Given the description of an element on the screen output the (x, y) to click on. 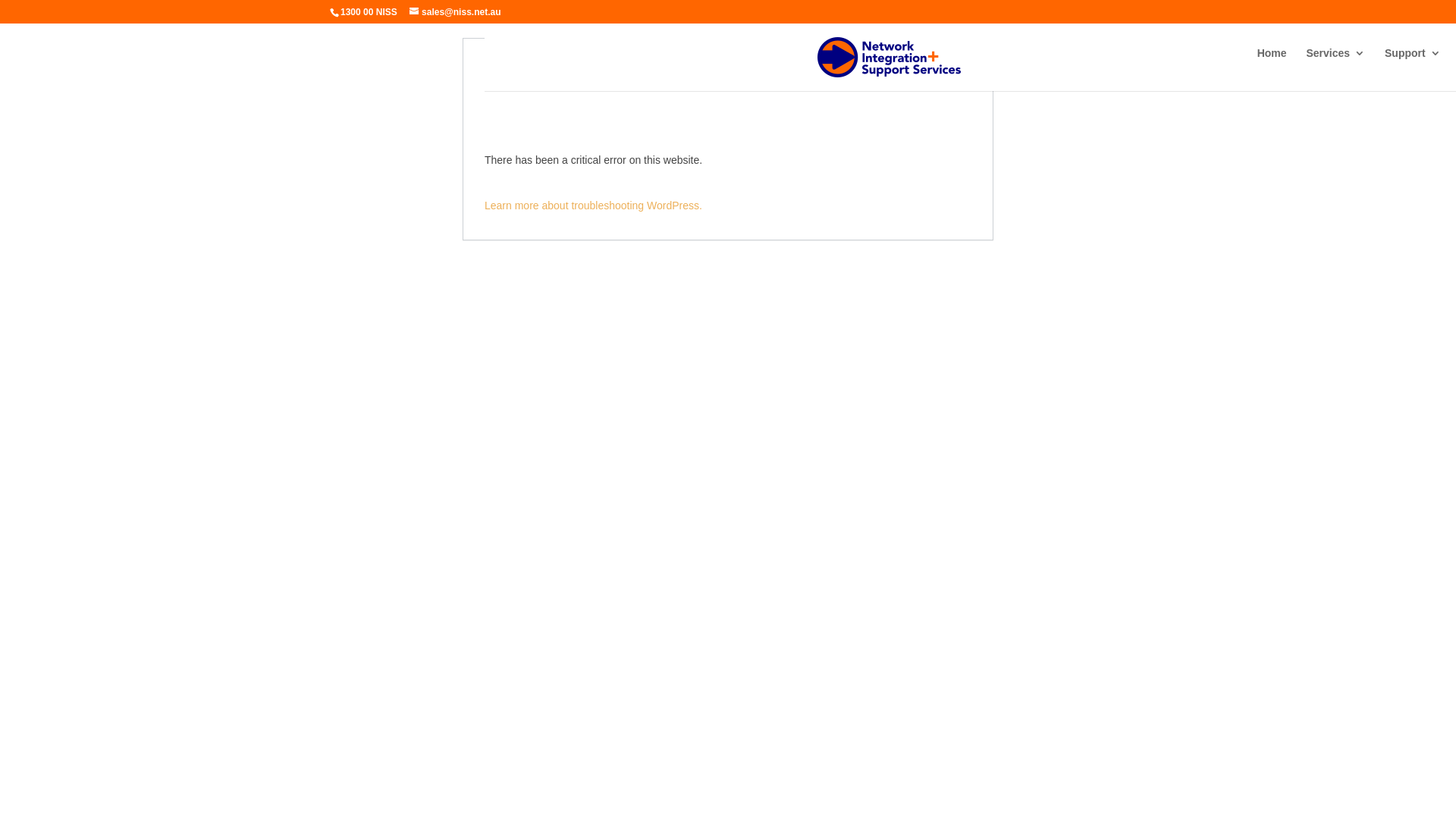
sales@niss.net.au Element type: text (454, 11)
Support Element type: text (1412, 65)
Home Element type: text (1271, 65)
Learn more about troubleshooting WordPress. Element type: text (593, 205)
1300 00 NISS Element type: text (368, 11)
Services Element type: text (1335, 65)
